Given the description of an element on the screen output the (x, y) to click on. 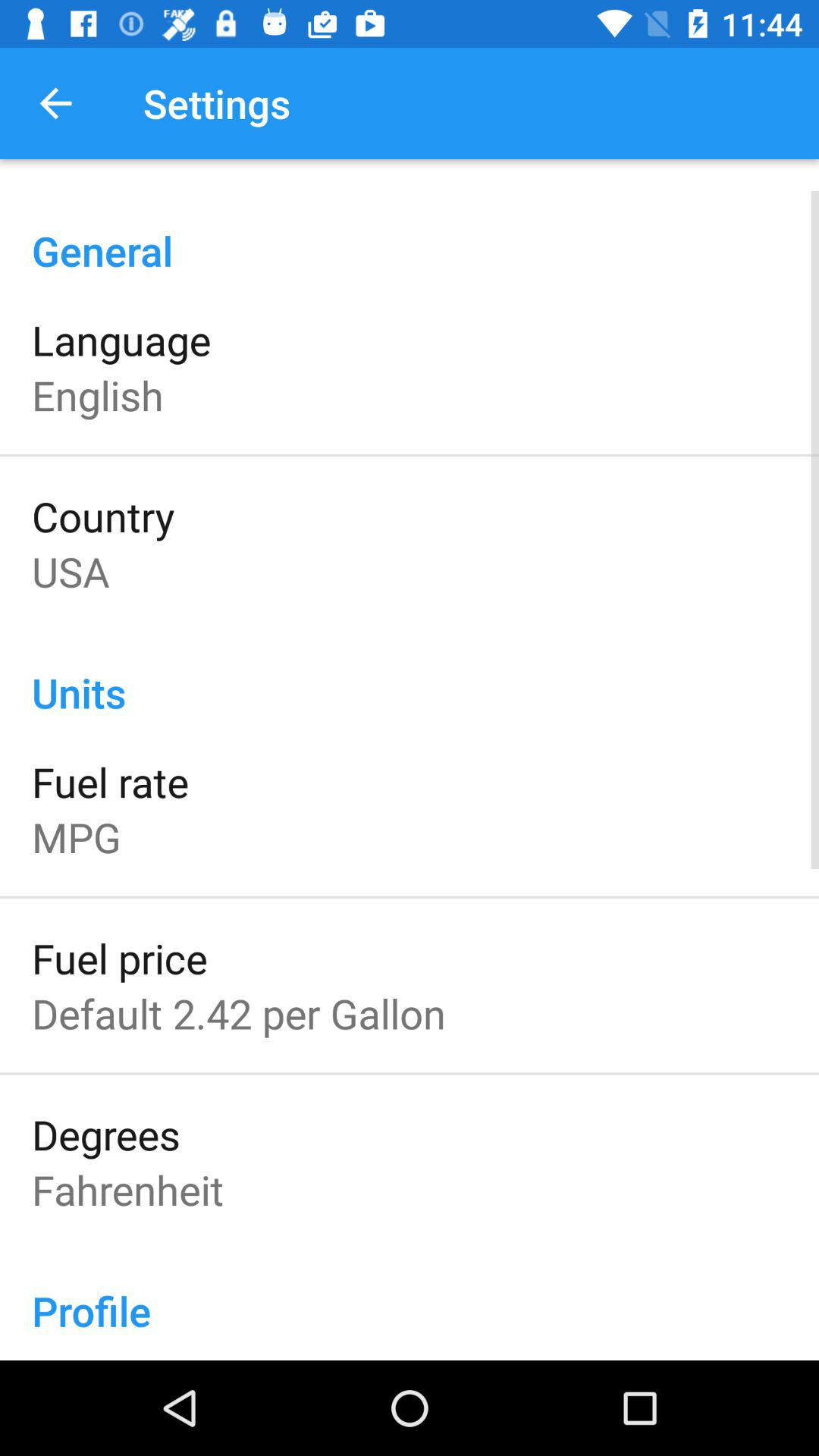
press fuel rate (109, 781)
